Given the description of an element on the screen output the (x, y) to click on. 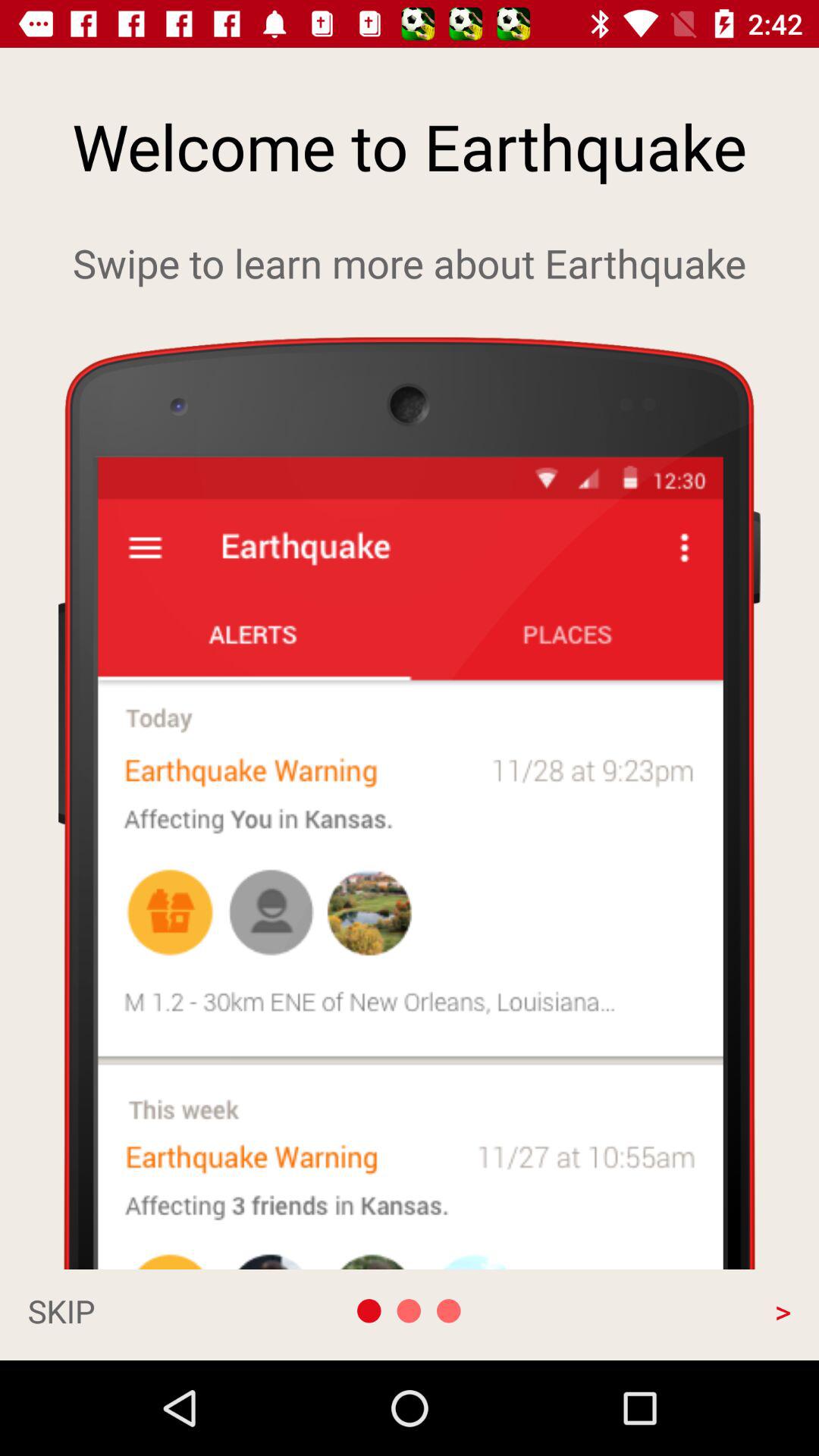
turn on > app (677, 1310)
